Given the description of an element on the screen output the (x, y) to click on. 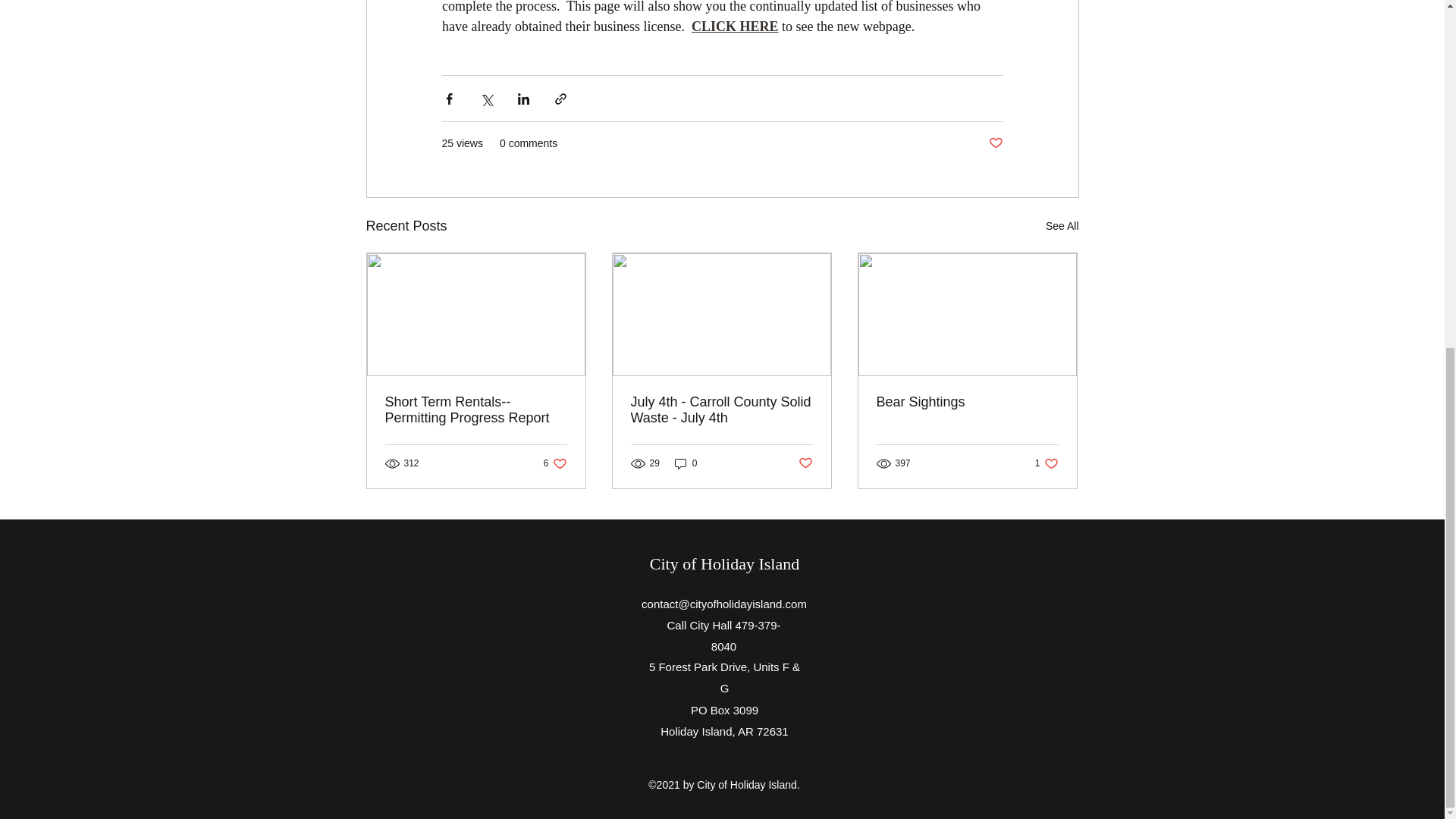
CLICK HERE (733, 26)
